Given the description of an element on the screen output the (x, y) to click on. 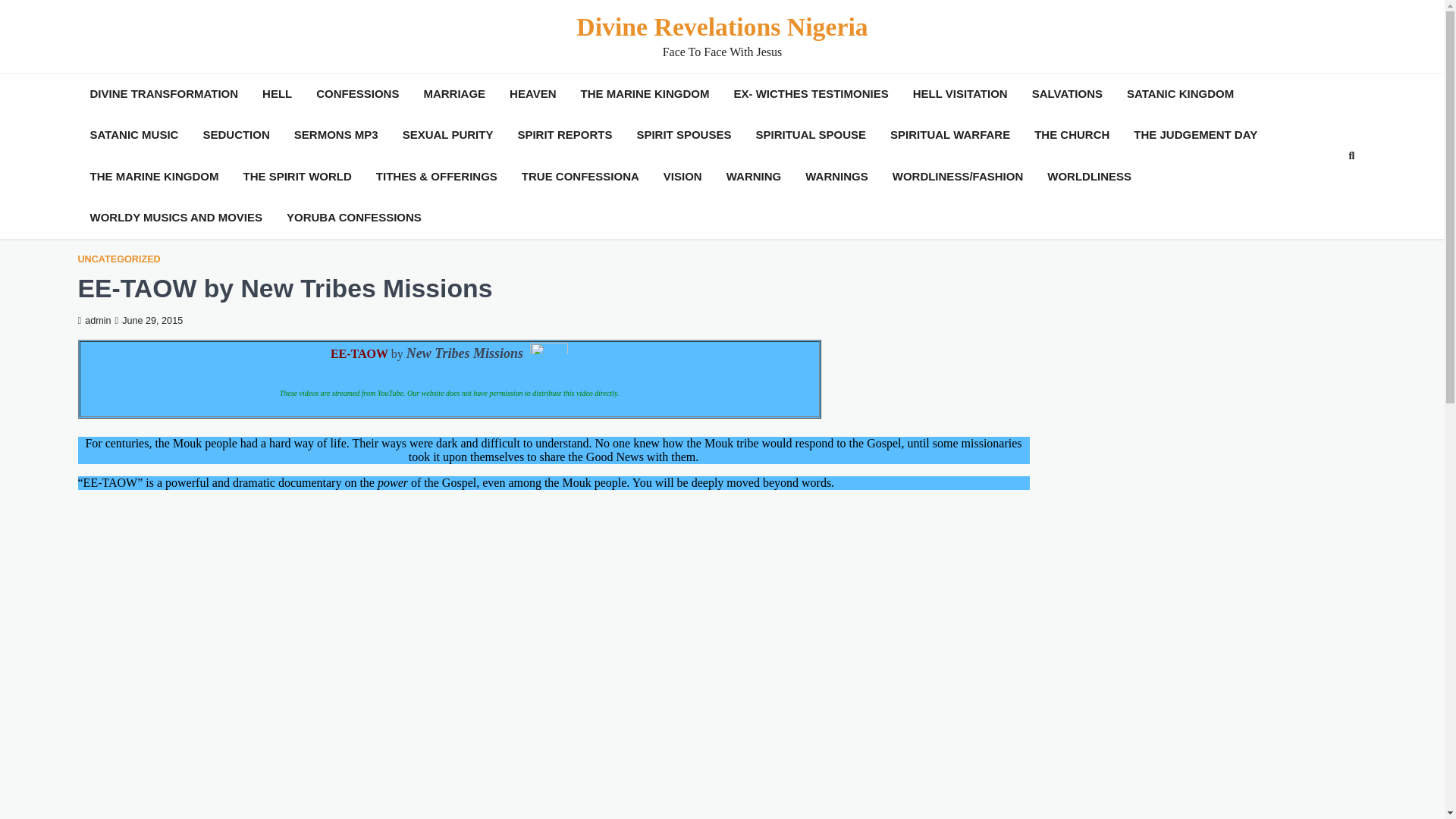
EX- WICTHES TESTIMONIES (811, 94)
THE MARINE KINGDOM (153, 176)
UNCATEGORIZED (118, 259)
Search (1323, 191)
THE MARINE KINGDOM (645, 94)
SEDUCTION (235, 135)
SATANIC KINGDOM (1180, 94)
WORLDLINESS (1089, 176)
SPIRIT SPOUSES (683, 135)
SPIRIT REPORTS (564, 135)
MARRIAGE (454, 94)
SEXUAL PURITY (447, 135)
SALVATIONS (1067, 94)
SATANIC MUSIC (133, 135)
admin (93, 320)
